Given the description of an element on the screen output the (x, y) to click on. 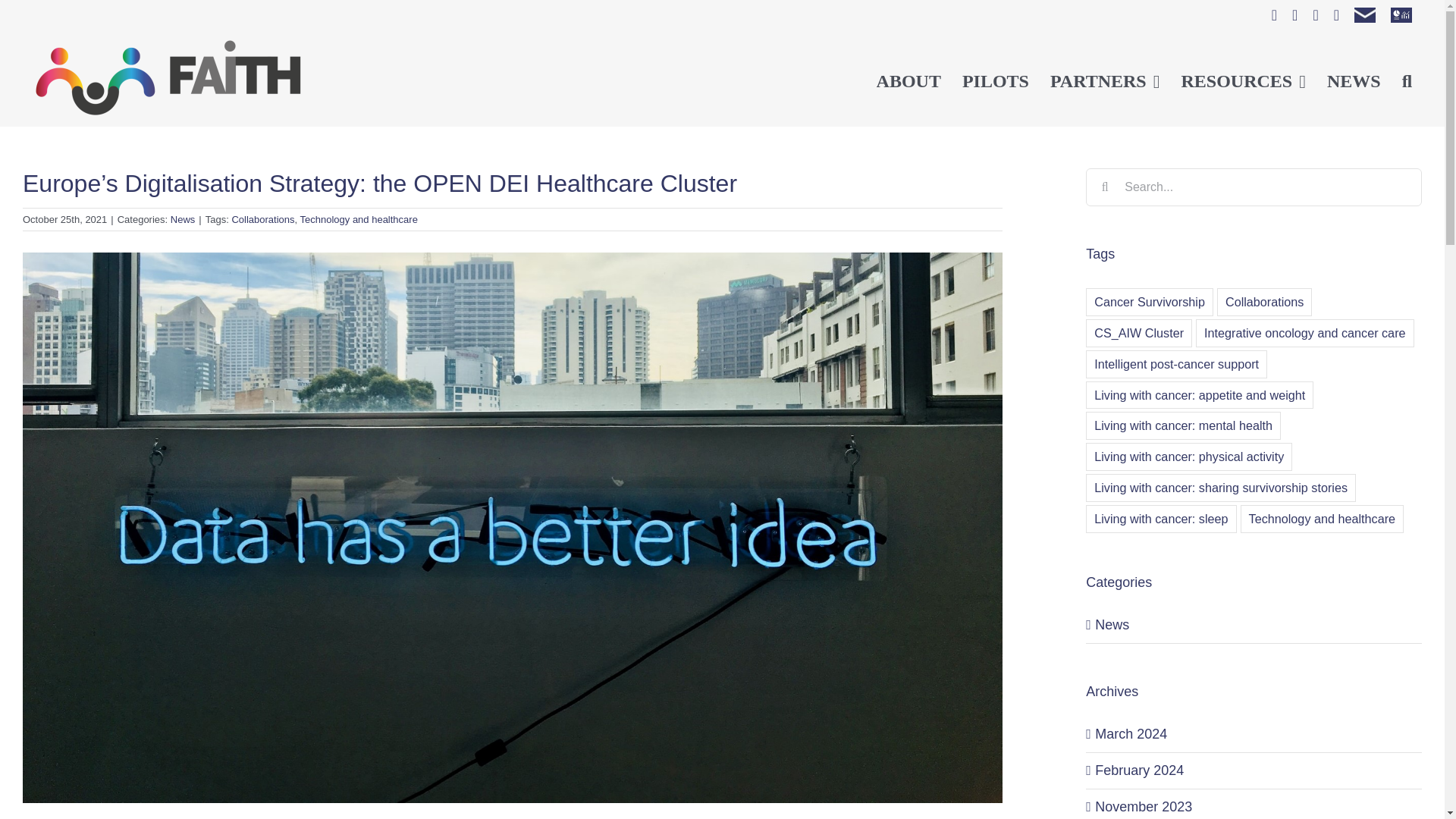
Collaborations (262, 219)
RESOURCES (1242, 79)
News (182, 219)
Contacts (1364, 14)
PARTNERS (1104, 79)
Technology and healthcare (358, 219)
FAITH Dashboard (1401, 14)
